Given the description of an element on the screen output the (x, y) to click on. 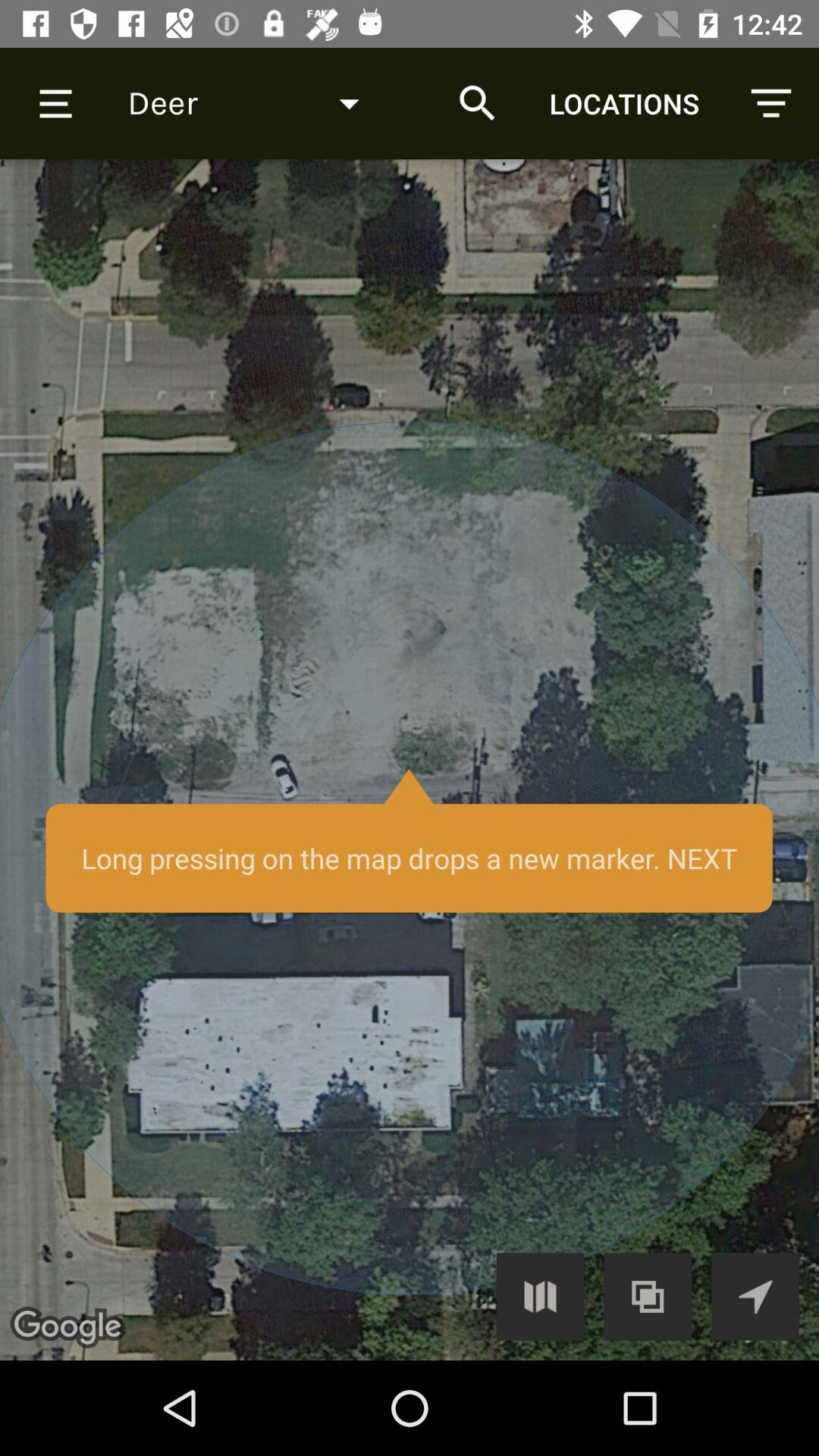
combine wiew/layers button option (647, 1296)
